Given the description of an element on the screen output the (x, y) to click on. 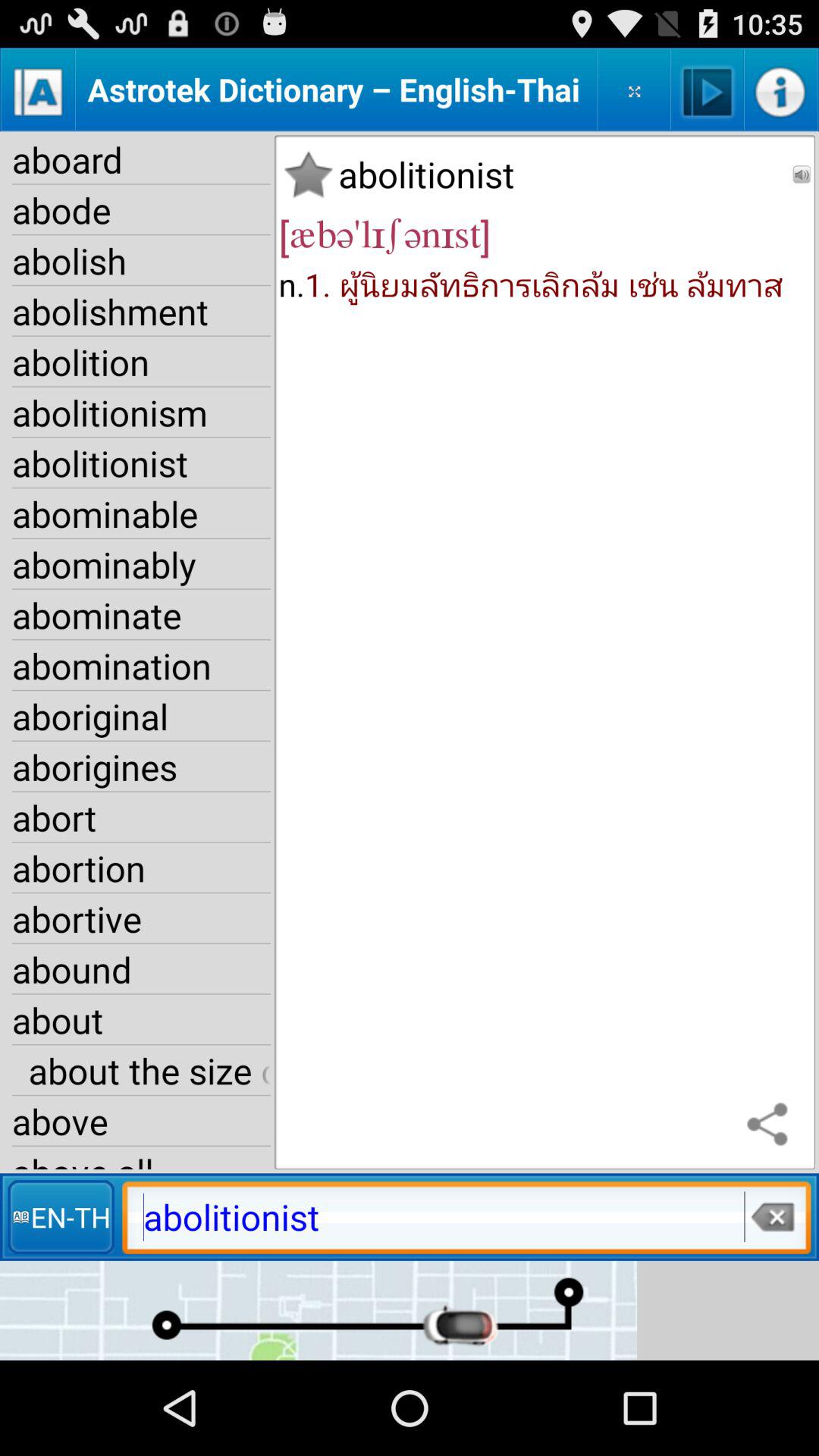
favorite the word (308, 174)
